Given the description of an element on the screen output the (x, y) to click on. 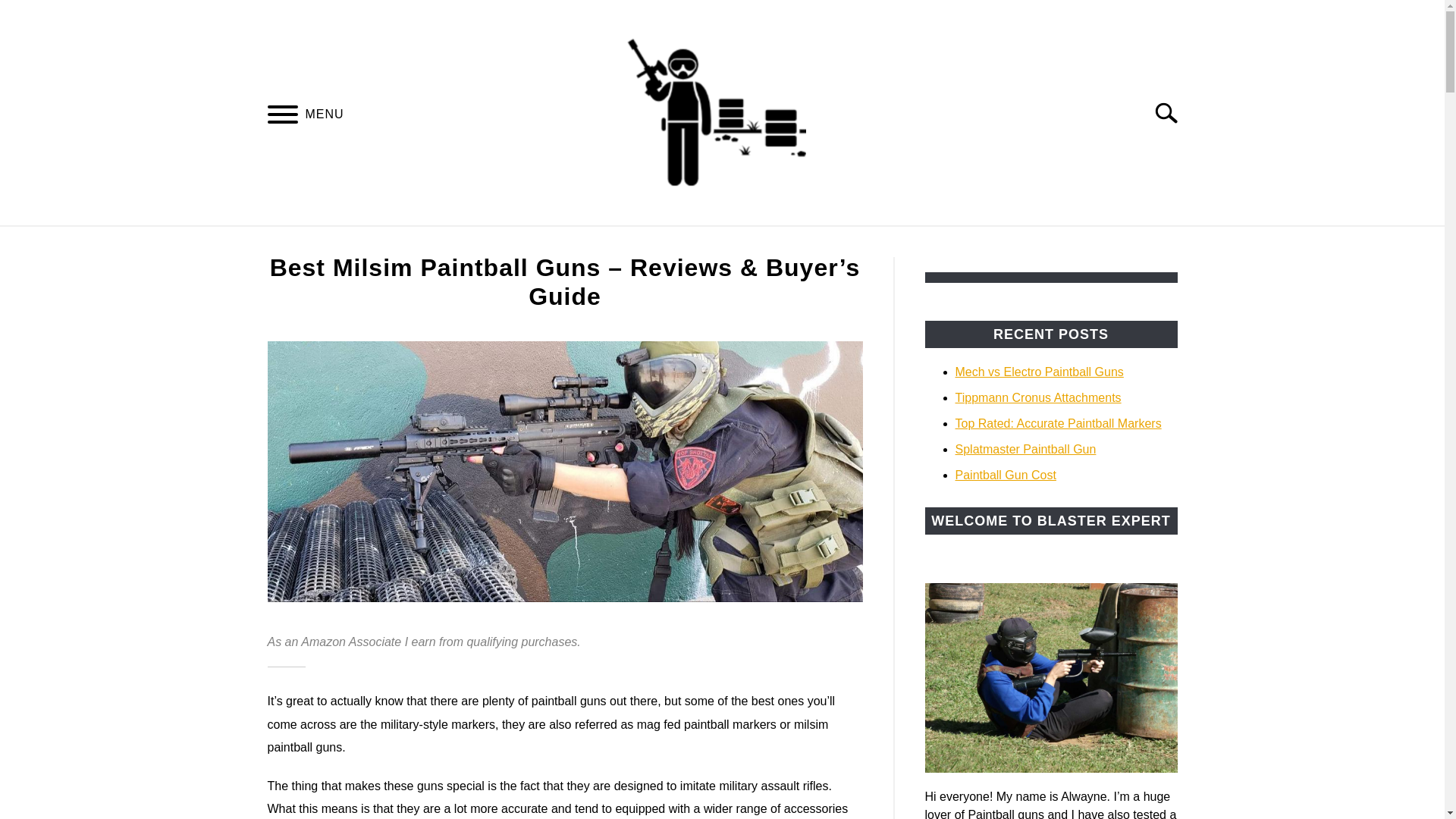
PAINTBALL GUNS (473, 243)
Search (1172, 112)
PAINTBALL GEARS (871, 243)
CONTACT (996, 243)
MENU (282, 116)
PAINTBALL VENUES (712, 243)
HOW TO (588, 243)
